Given the description of an element on the screen output the (x, y) to click on. 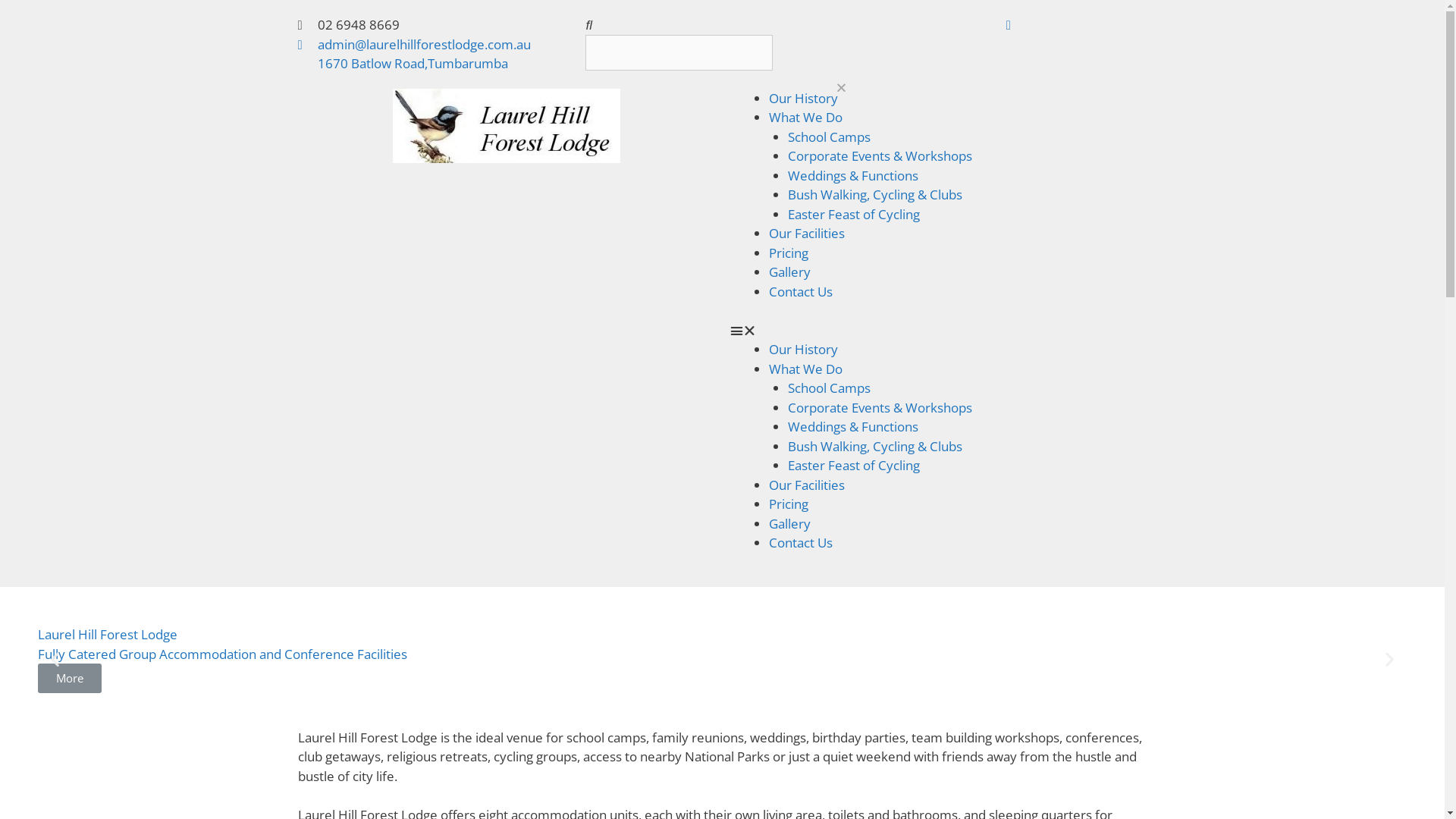
Pricing Element type: text (788, 503)
Easter Feast of Cycling Element type: text (853, 464)
Corporate Events & Workshops Element type: text (879, 407)
1670 Batlow Road,Tumbarumba Element type: text (402, 63)
What We Do Element type: text (805, 367)
Easter Feast of Cycling Element type: text (853, 213)
Contact Us Element type: text (800, 542)
Gallery Element type: text (789, 522)
What We Do Element type: text (805, 116)
Our Facilities Element type: text (806, 232)
admin@laurelhillforestlodge.com.au Element type: text (413, 44)
Corporate Events & Workshops Element type: text (879, 155)
Weddings & Functions Element type: text (852, 175)
Our History Element type: text (802, 348)
Our History Element type: text (802, 97)
Gallery Element type: text (789, 271)
Bush Walking, Cycling & Clubs Element type: text (874, 194)
Contact Us Element type: text (800, 290)
Our Facilities Element type: text (806, 484)
School Camps Element type: text (828, 135)
Weddings & Functions Element type: text (852, 426)
Bush Walking, Cycling & Clubs Element type: text (874, 445)
Pricing Element type: text (788, 252)
School Camps Element type: text (828, 387)
Search Element type: hover (678, 52)
